Given the description of an element on the screen output the (x, y) to click on. 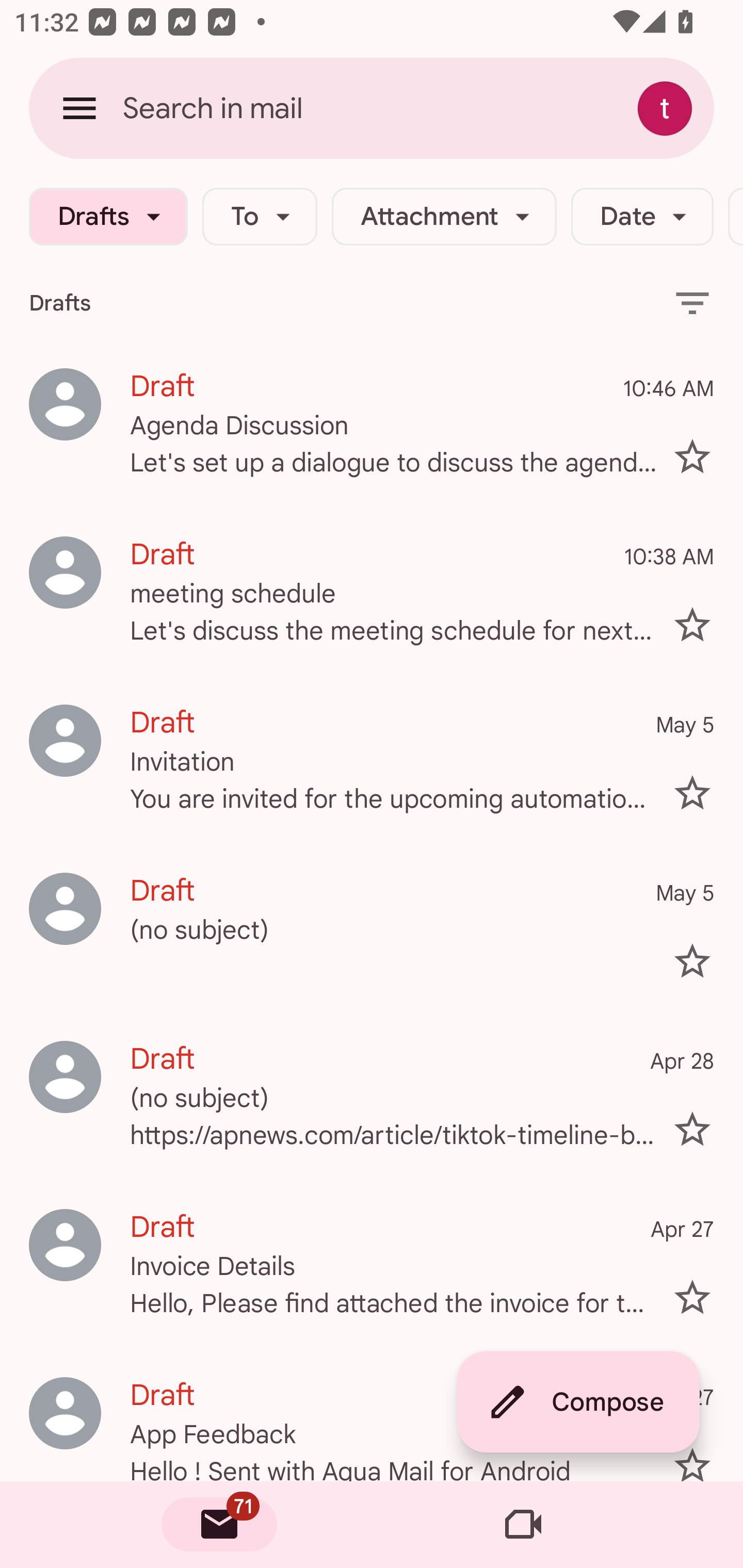
Open navigation drawer (79, 108)
Drafts (107, 217)
To (259, 217)
Attachment (444, 217)
Date (642, 217)
Filter icon (692, 302)
Compose (577, 1401)
Meet (523, 1524)
